Given the description of an element on the screen output the (x, y) to click on. 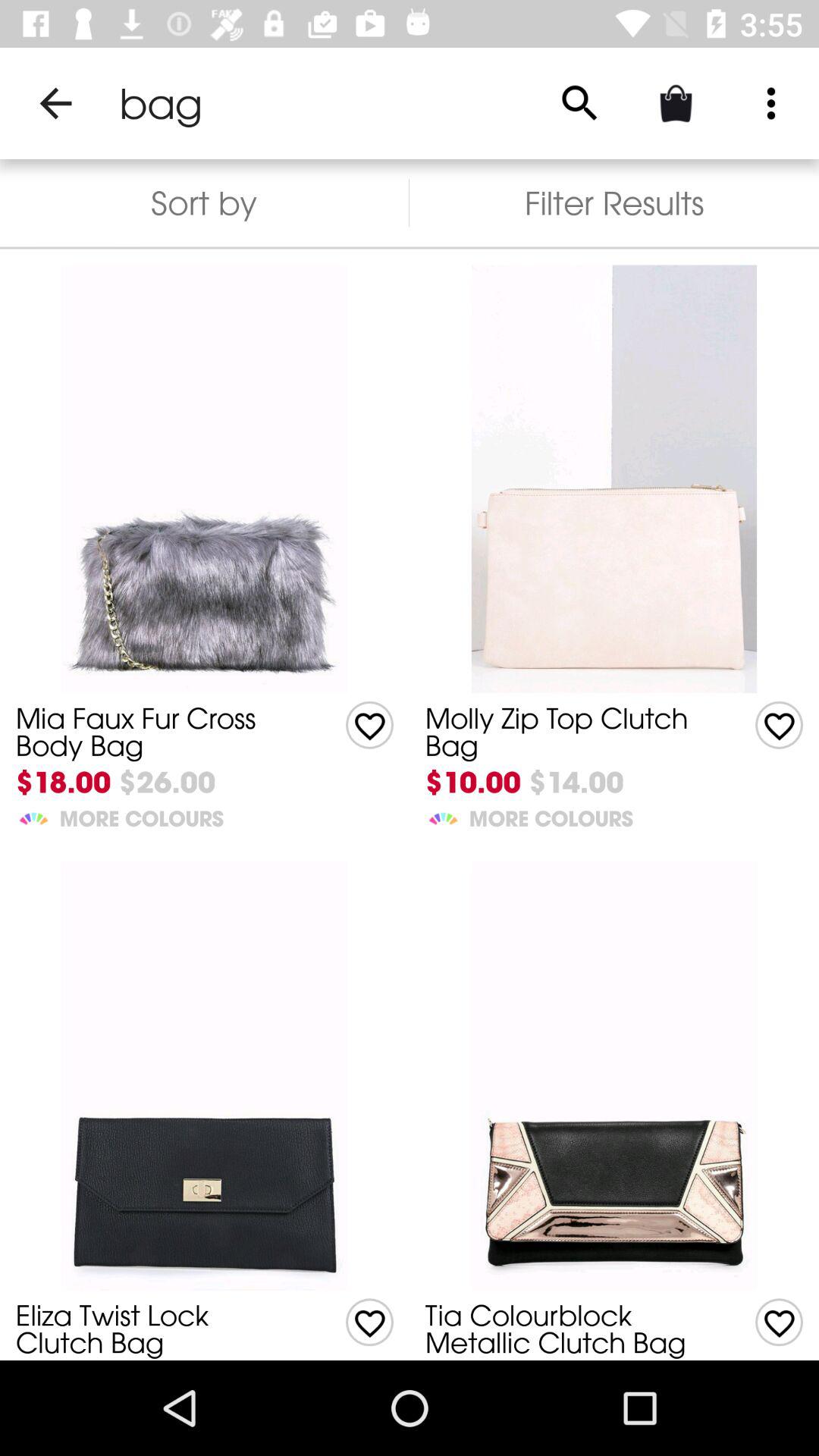
jump until the sort by (204, 202)
